Given the description of an element on the screen output the (x, y) to click on. 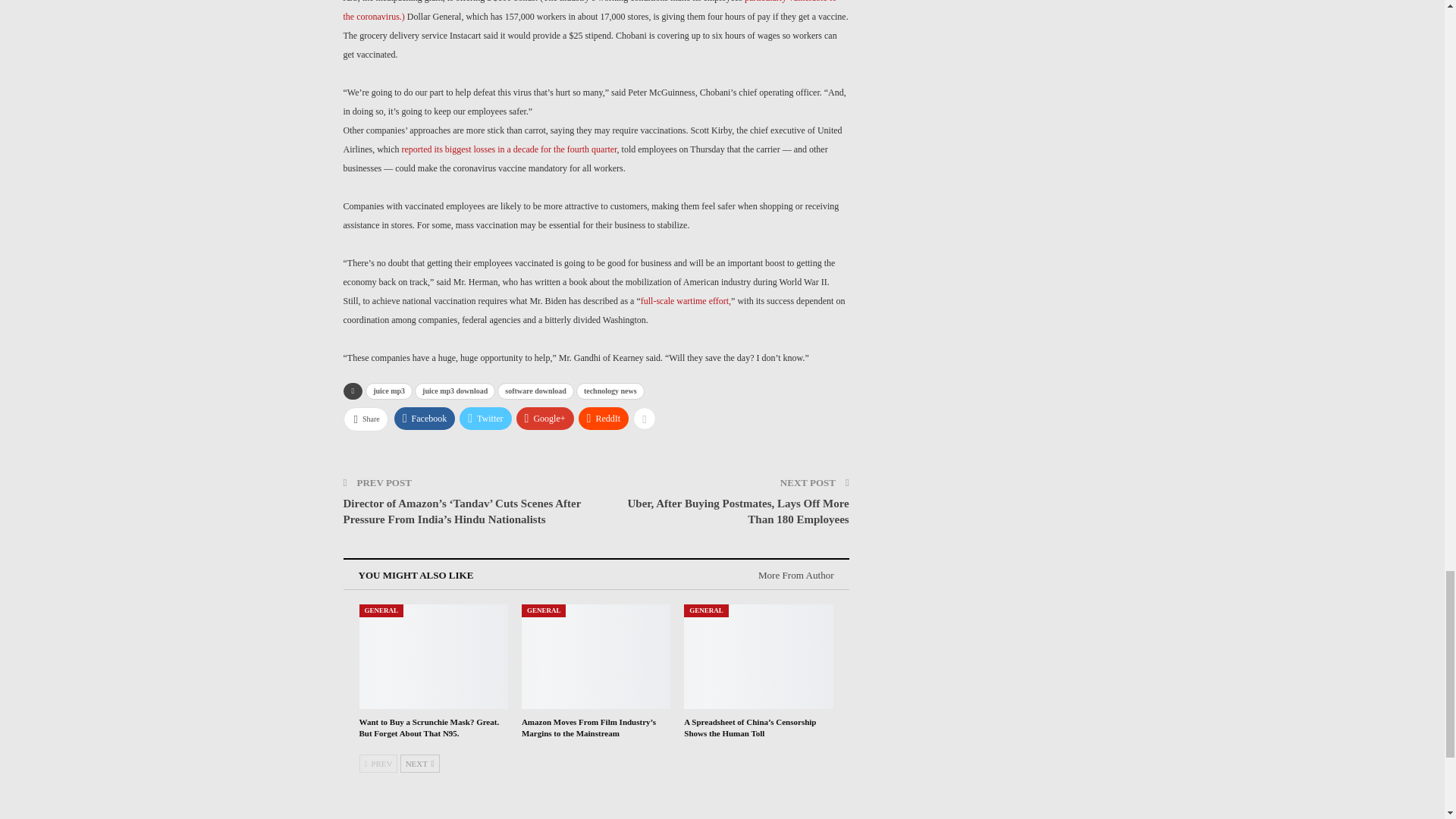
Twitter (485, 418)
juice mp3 (388, 391)
technology news (610, 391)
software download (535, 391)
juice mp3 download (454, 391)
ReddIt (603, 418)
Facebook (424, 418)
full-scale wartime effort, (685, 300)
